Given the description of an element on the screen output the (x, y) to click on. 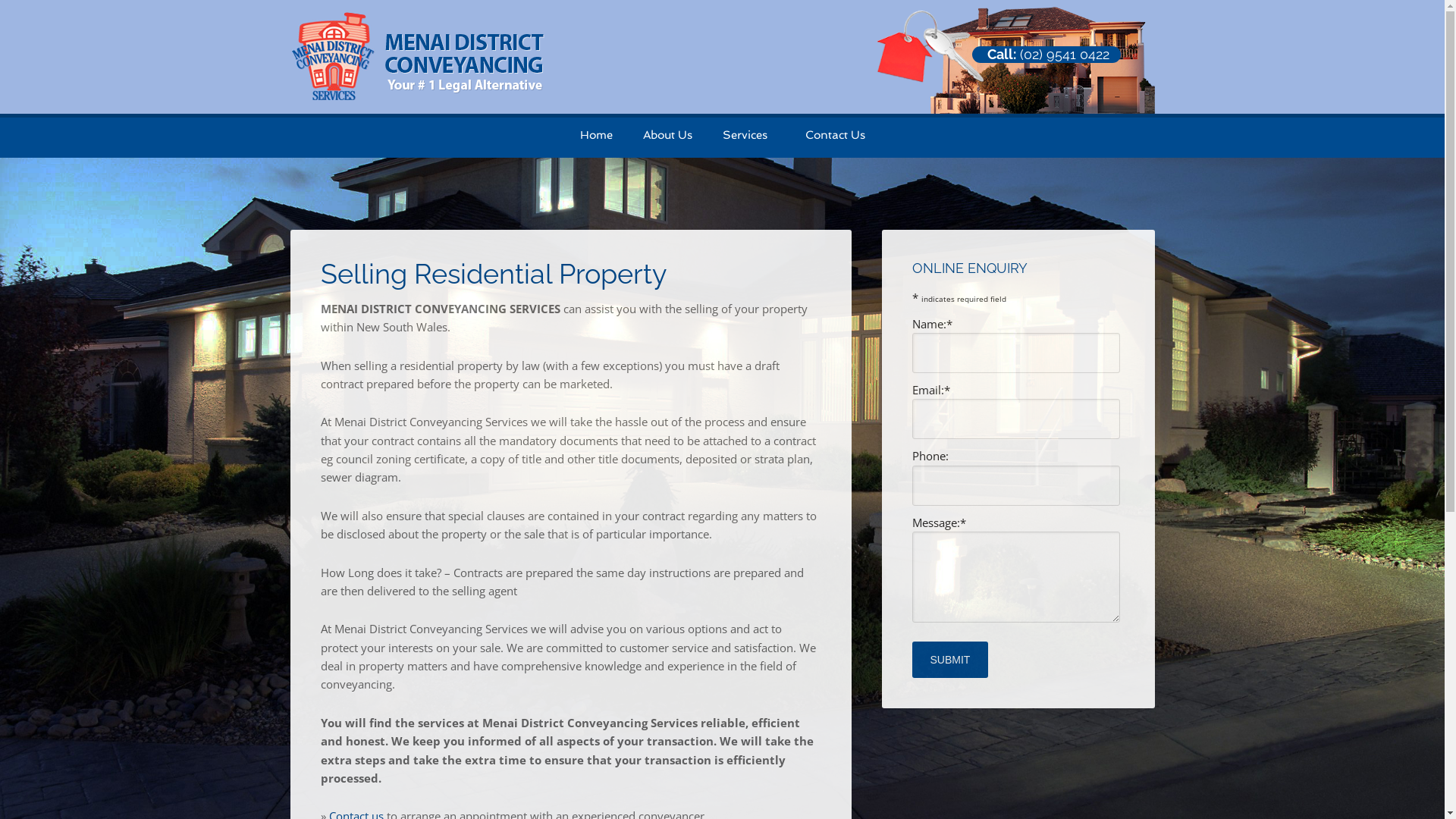
Call: (02) 9541 0422 Element type: text (1048, 54)
Home Element type: text (595, 134)
Services Element type: text (747, 134)
Menai District Conveyancing Element type: hover (416, 90)
About Us Element type: text (667, 134)
Submit Element type: text (949, 659)
Contact Us Element type: text (834, 134)
